Given the description of an element on the screen output the (x, y) to click on. 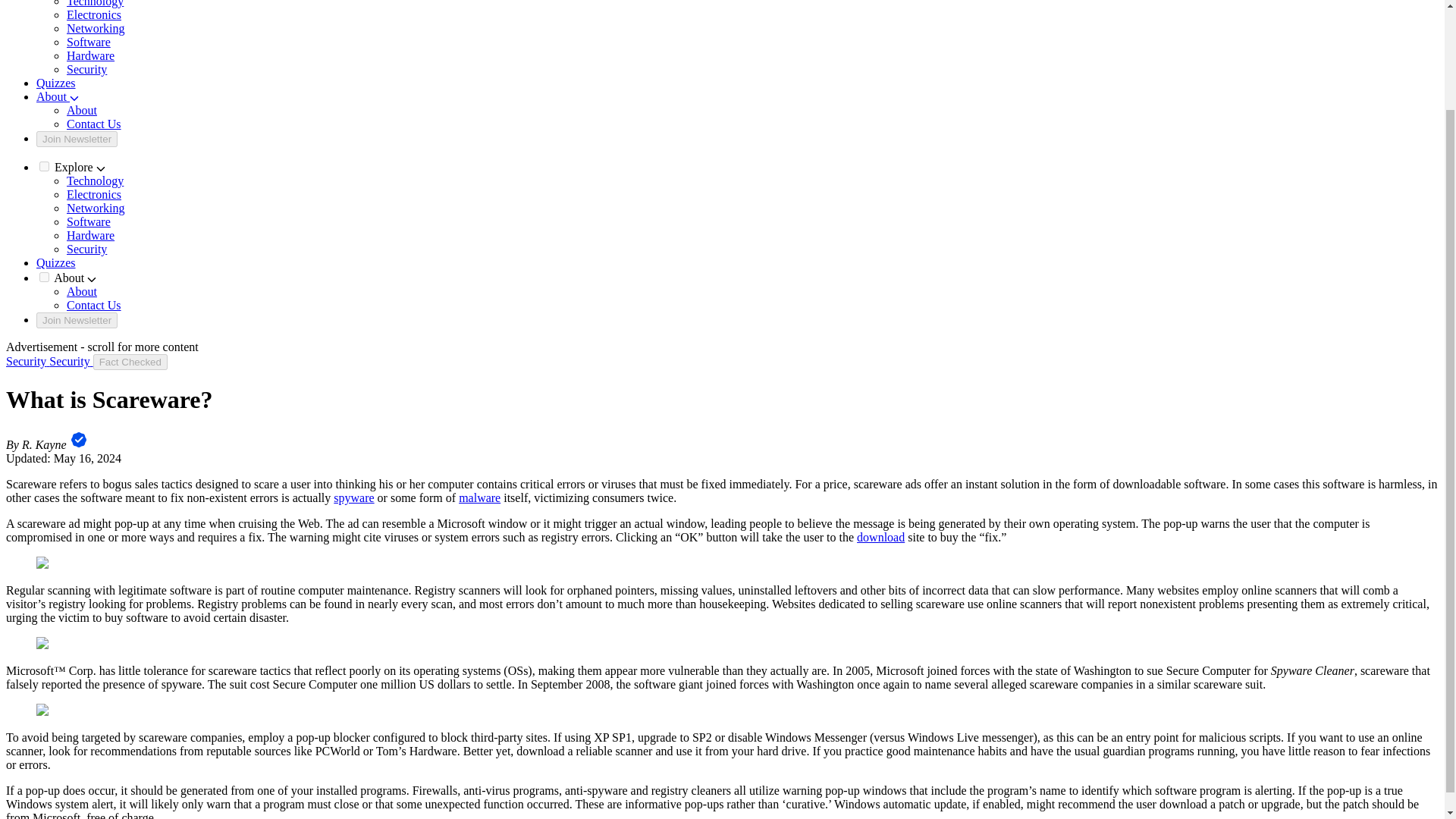
Networking (94, 207)
on (44, 166)
spyware (353, 497)
Hardware (90, 55)
Electronics (93, 14)
malware (479, 497)
Fact Checked (130, 361)
Technology (94, 3)
About (81, 110)
Software (88, 42)
Hardware (90, 235)
About (81, 291)
Software (88, 221)
Contact Us (93, 305)
Security (86, 248)
